Given the description of an element on the screen output the (x, y) to click on. 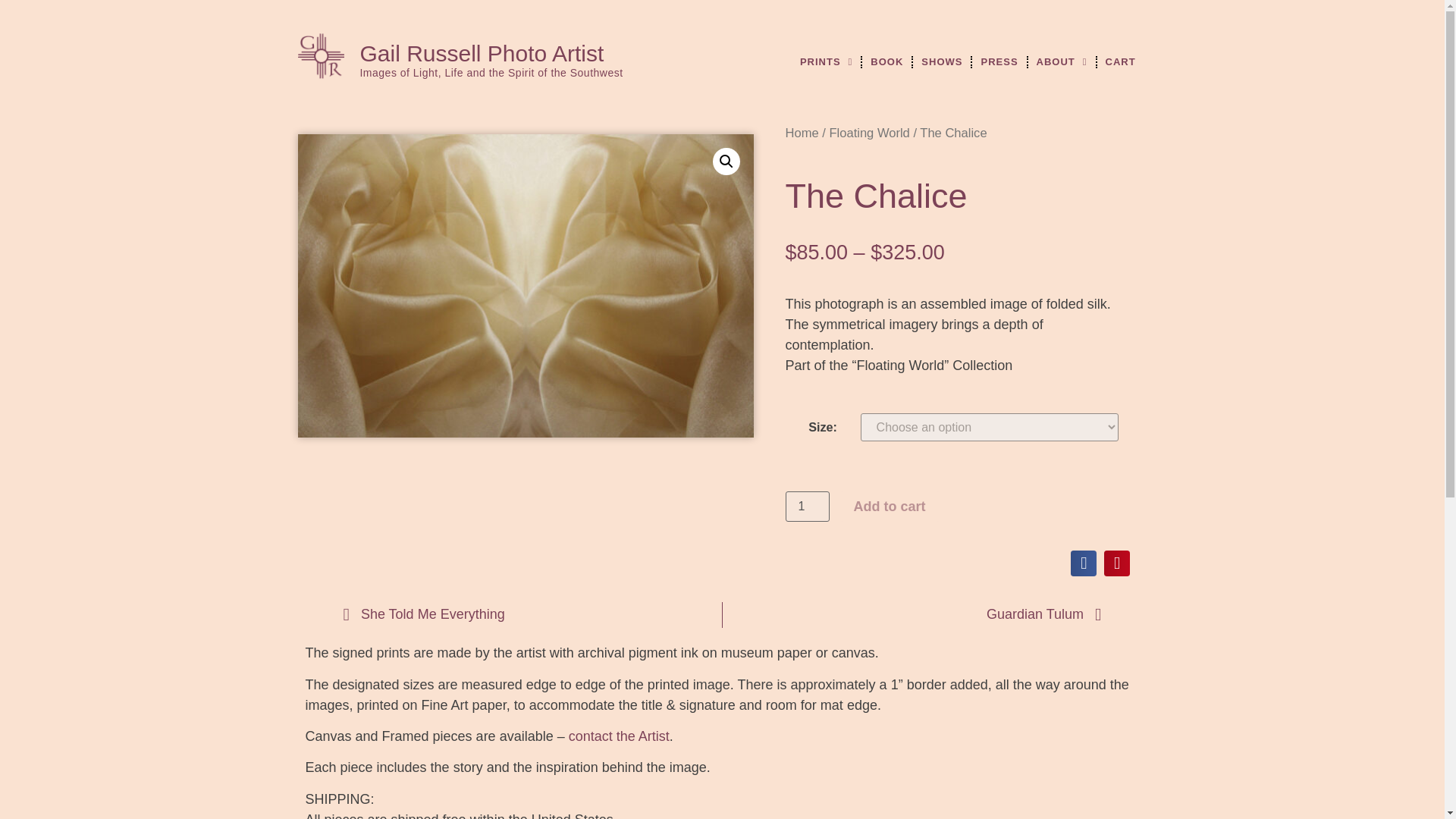
Gail Russell Photo Artist (481, 53)
CART (1120, 62)
ABOUT (1061, 62)
BOOK (886, 62)
PRINTS (826, 62)
SHOWS (941, 62)
PRESS (999, 62)
1 (807, 506)
